Given the description of an element on the screen output the (x, y) to click on. 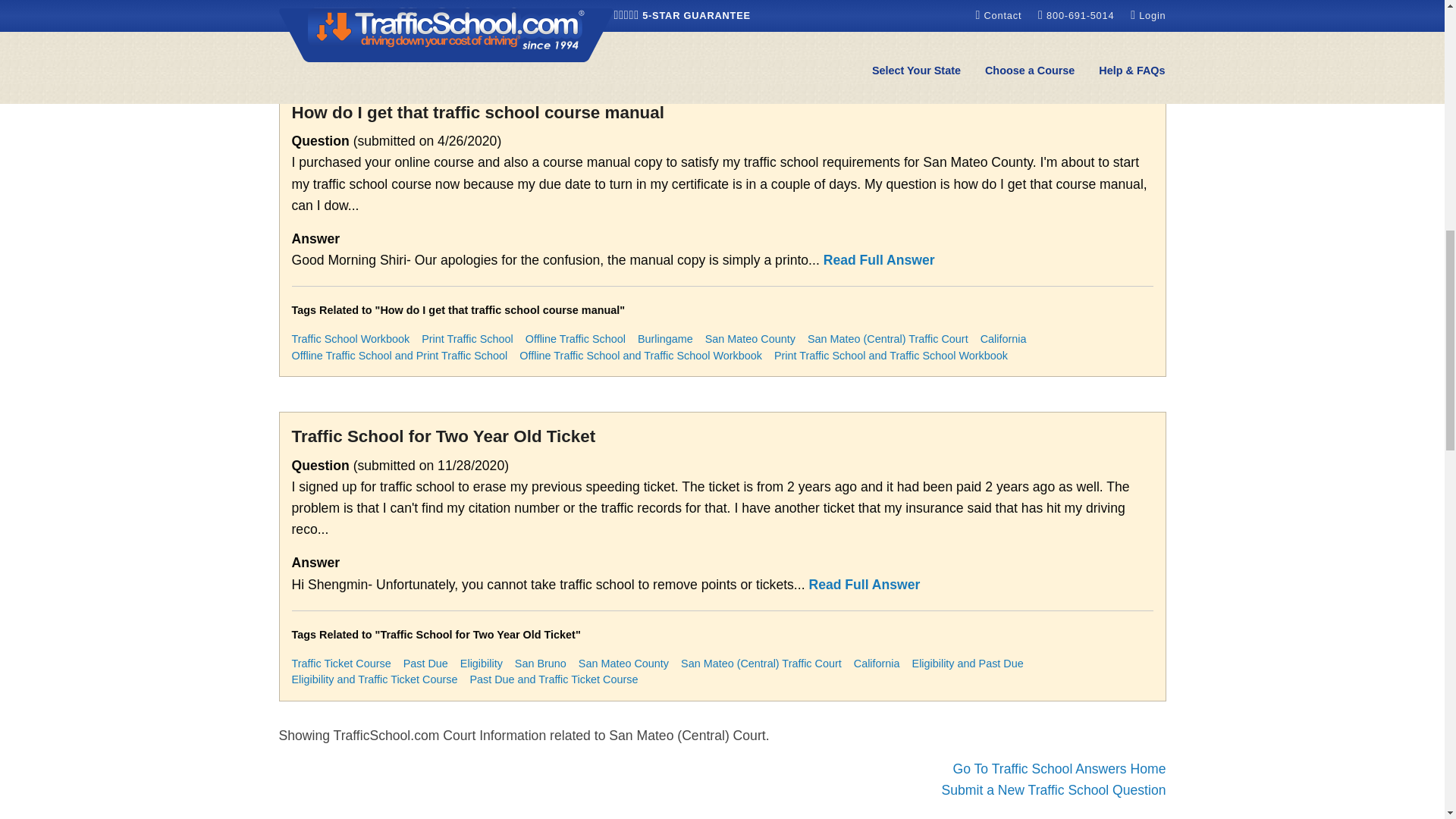
San Mateo County (749, 338)
Traffic School Answers Home (1059, 768)
Traffic School Extension and Traffic School Completion (905, 30)
Submit Traffic School Question (1054, 789)
Offline Traffic School (575, 338)
Carmichael (679, 15)
Points on Record and Traffic School Extension (403, 30)
Traffic School Completion (352, 15)
San Mateo County (765, 15)
Points on Record and Traffic School Completion (644, 30)
Traffic School Workbook (350, 338)
Points on Record (598, 15)
Traffic School Extension (486, 15)
California (1018, 15)
Read Full Answer (879, 259)
